Given the description of an element on the screen output the (x, y) to click on. 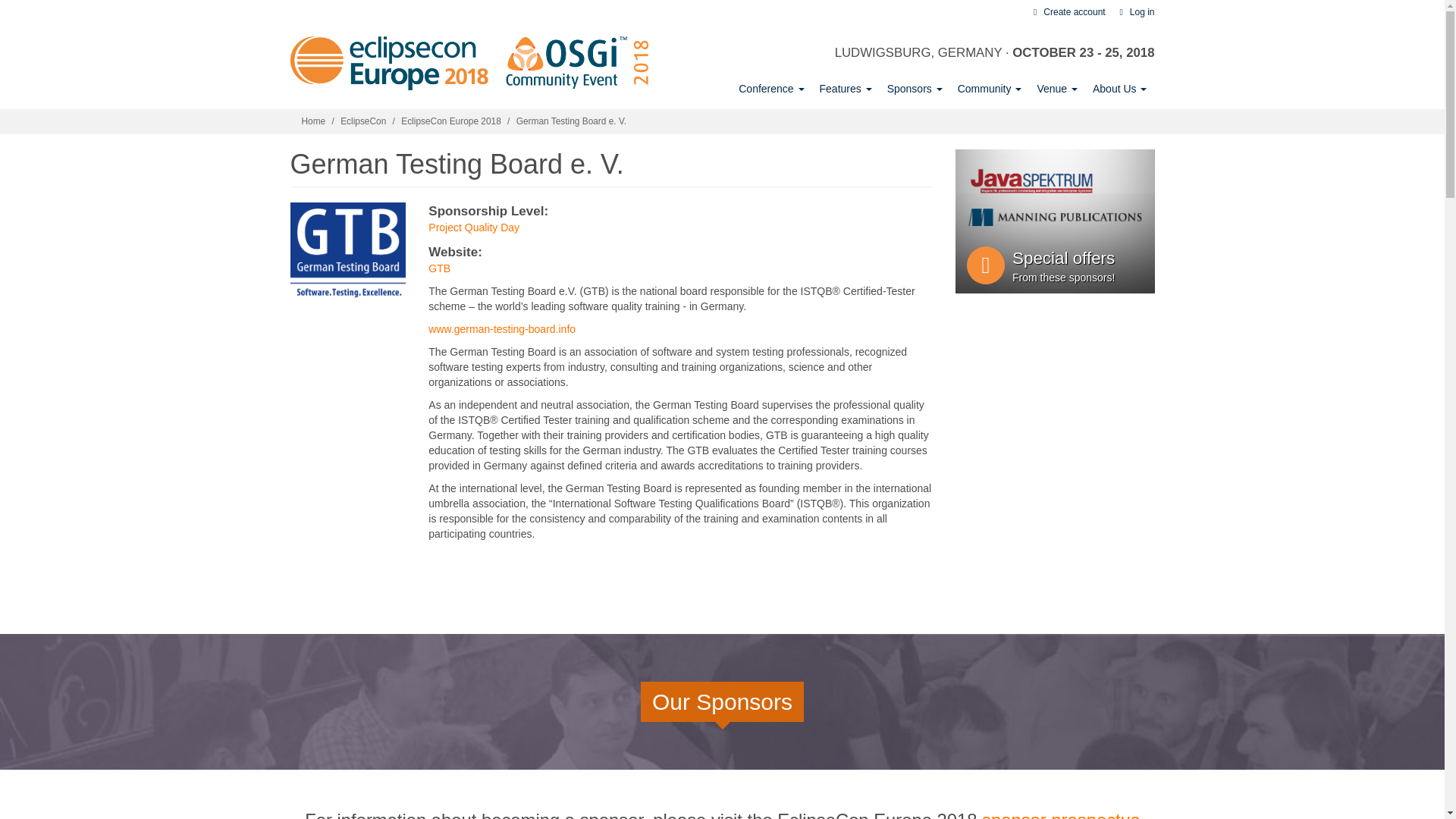
Features (845, 89)
Conference (770, 89)
Create account (1067, 11)
Venue (1056, 89)
Log in (1134, 11)
Conference (770, 89)
Community (990, 89)
Community (990, 89)
Our Sponsors (914, 89)
Sponsors (914, 89)
